Given the description of an element on the screen output the (x, y) to click on. 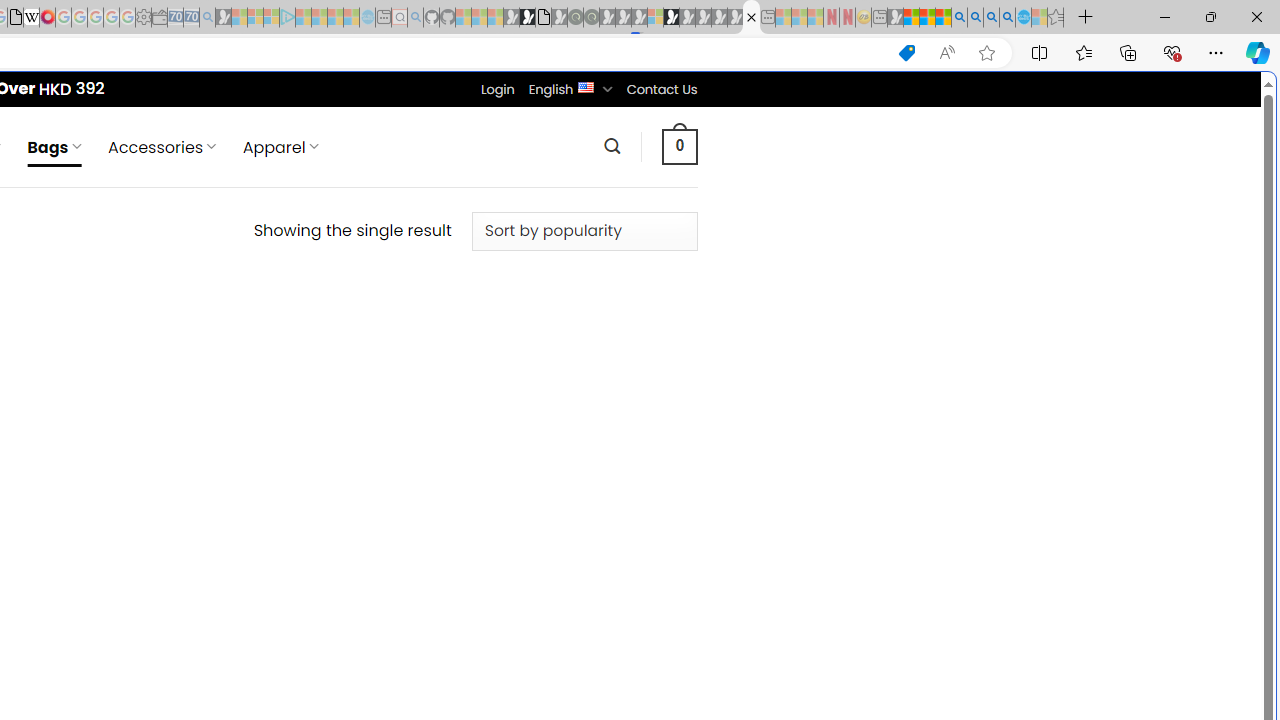
Login (497, 89)
Future Focus Report 2024 - Sleeping (591, 17)
Contact Us (661, 89)
2009 Bing officially replaced Live Search on June 3 - Search (975, 17)
Nordace - Cooler Bags (751, 17)
